Given the description of an element on the screen output the (x, y) to click on. 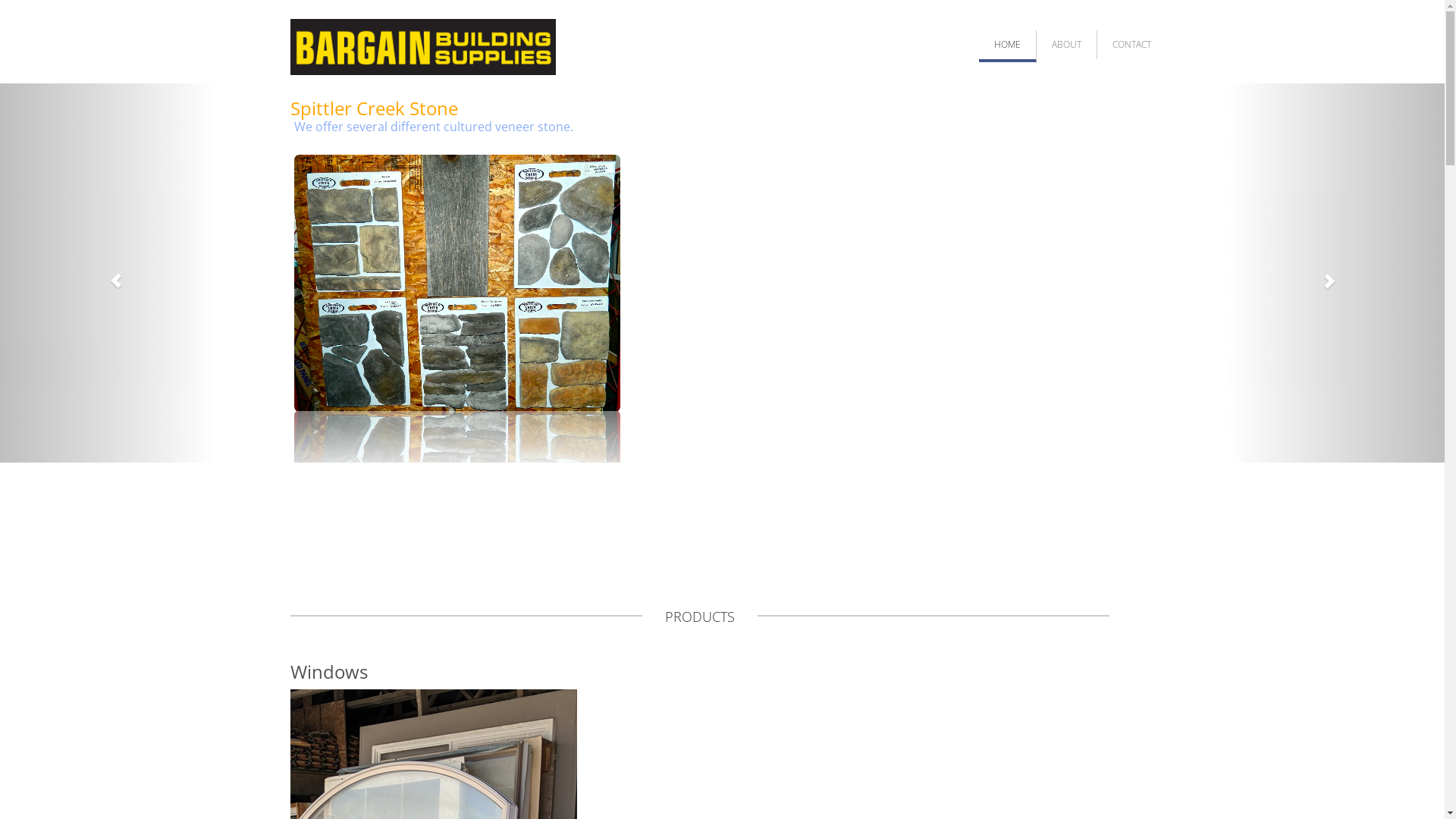
CONTACT Element type: text (1130, 44)
HOME Element type: text (1006, 46)
ABOUT Element type: text (1065, 44)
